Given the description of an element on the screen output the (x, y) to click on. 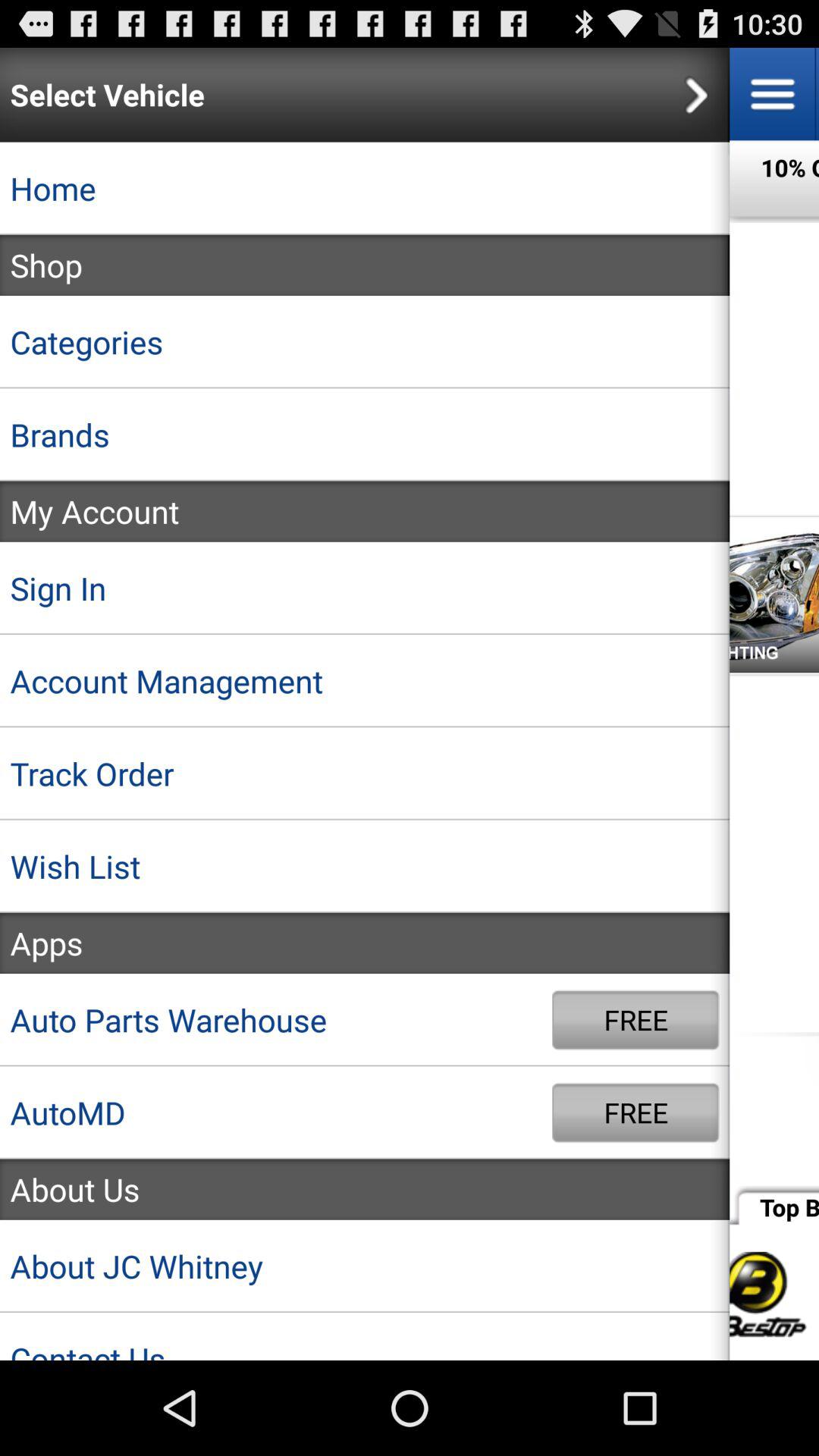
choose the item below automd (364, 1189)
